Given the description of an element on the screen output the (x, y) to click on. 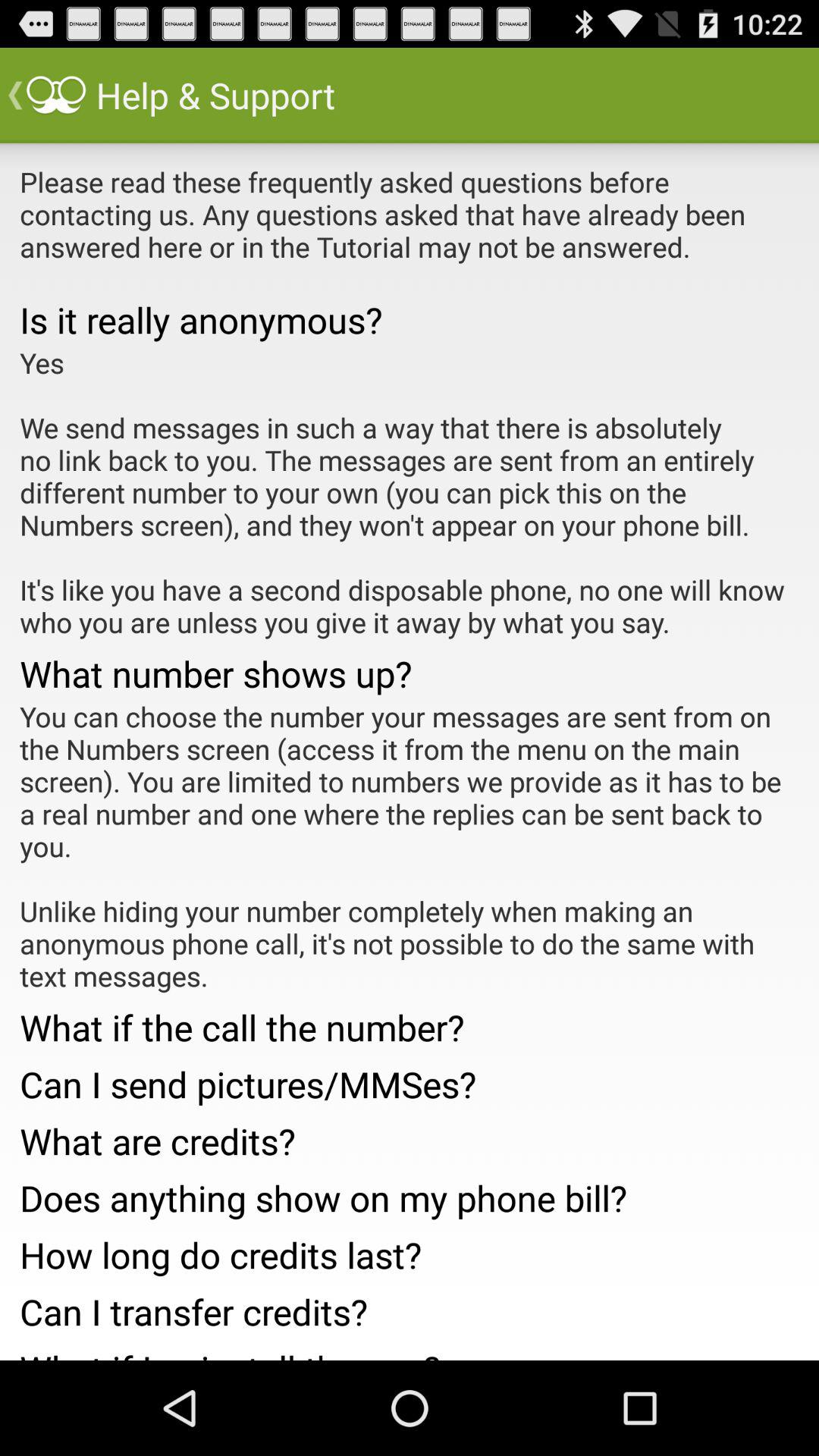
choose the yes we send item (409, 492)
